Given the description of an element on the screen output the (x, y) to click on. 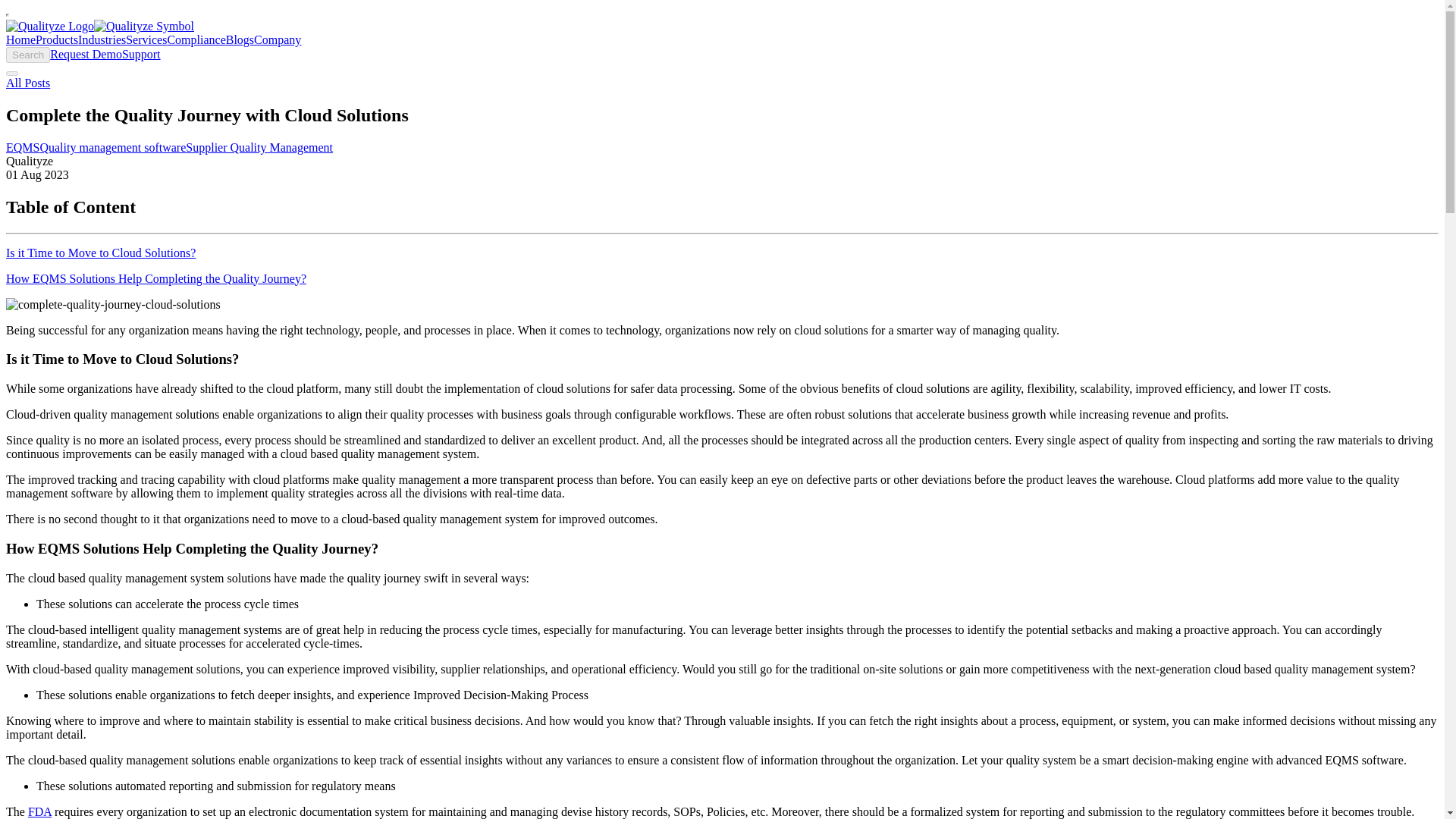
FDA (38, 811)
Search (27, 54)
Supplier Quality Management (259, 146)
Compliance (196, 39)
Quality management software (112, 146)
Services (146, 39)
Support (141, 53)
Industries (101, 39)
All Posts (27, 82)
EQMS (22, 146)
